Given the description of an element on the screen output the (x, y) to click on. 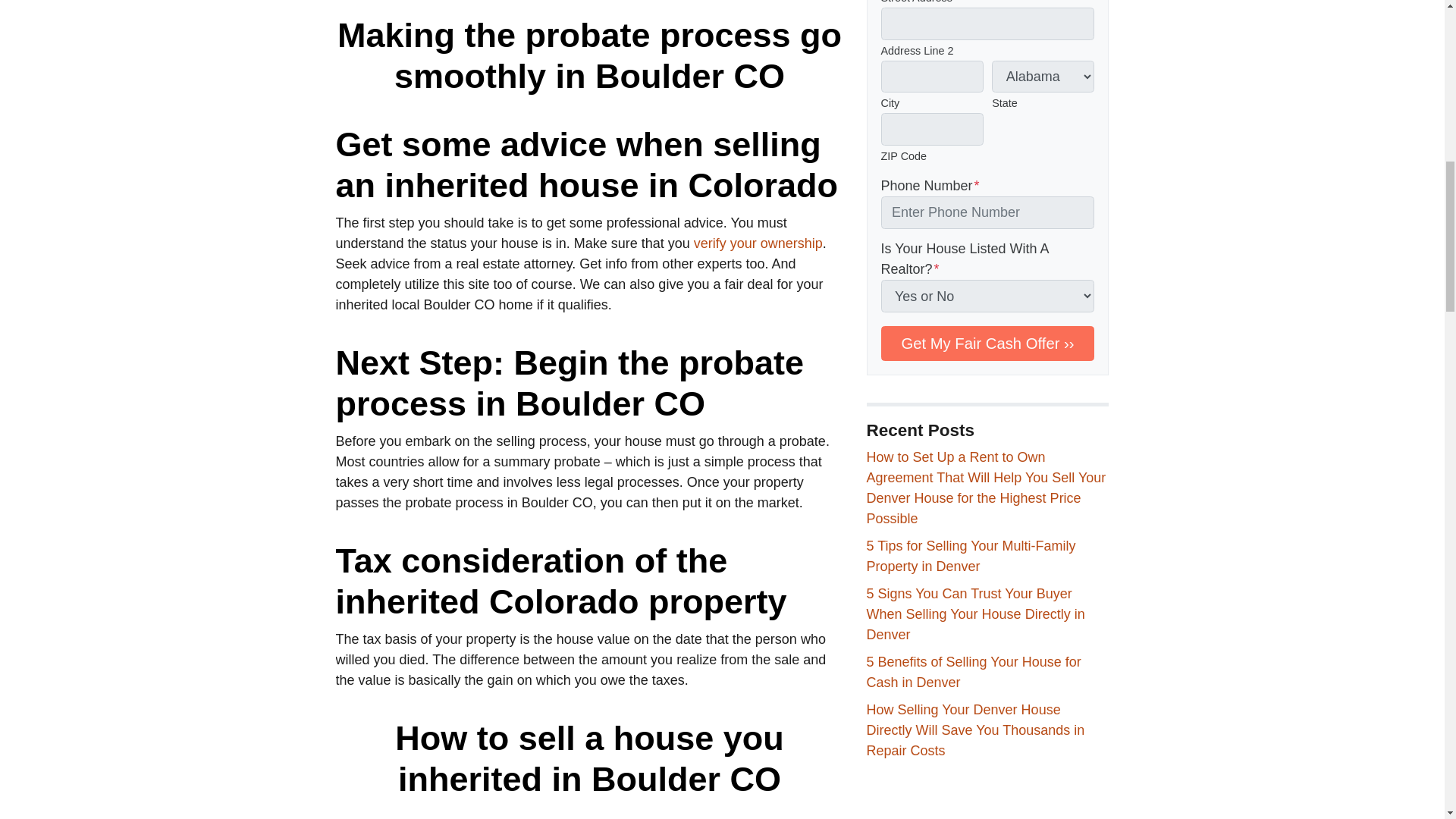
5 Tips for Selling Your Multi-Family Property in Denver (970, 556)
5 Benefits of Selling Your House for Cash in Denver (973, 672)
verify your ownership (758, 242)
